Given the description of an element on the screen output the (x, y) to click on. 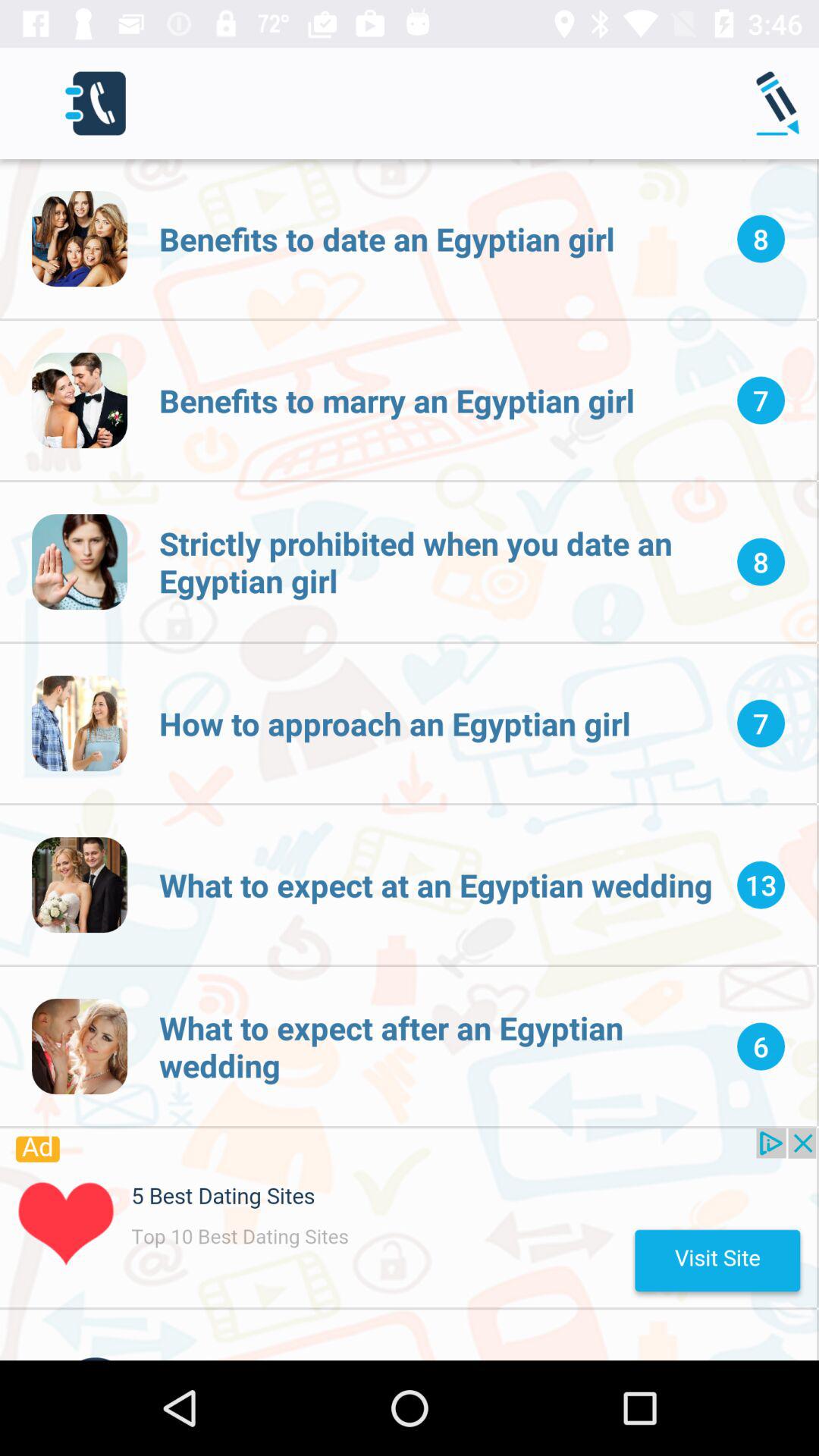
go to the advertisement (408, 1217)
